Given the description of an element on the screen output the (x, y) to click on. 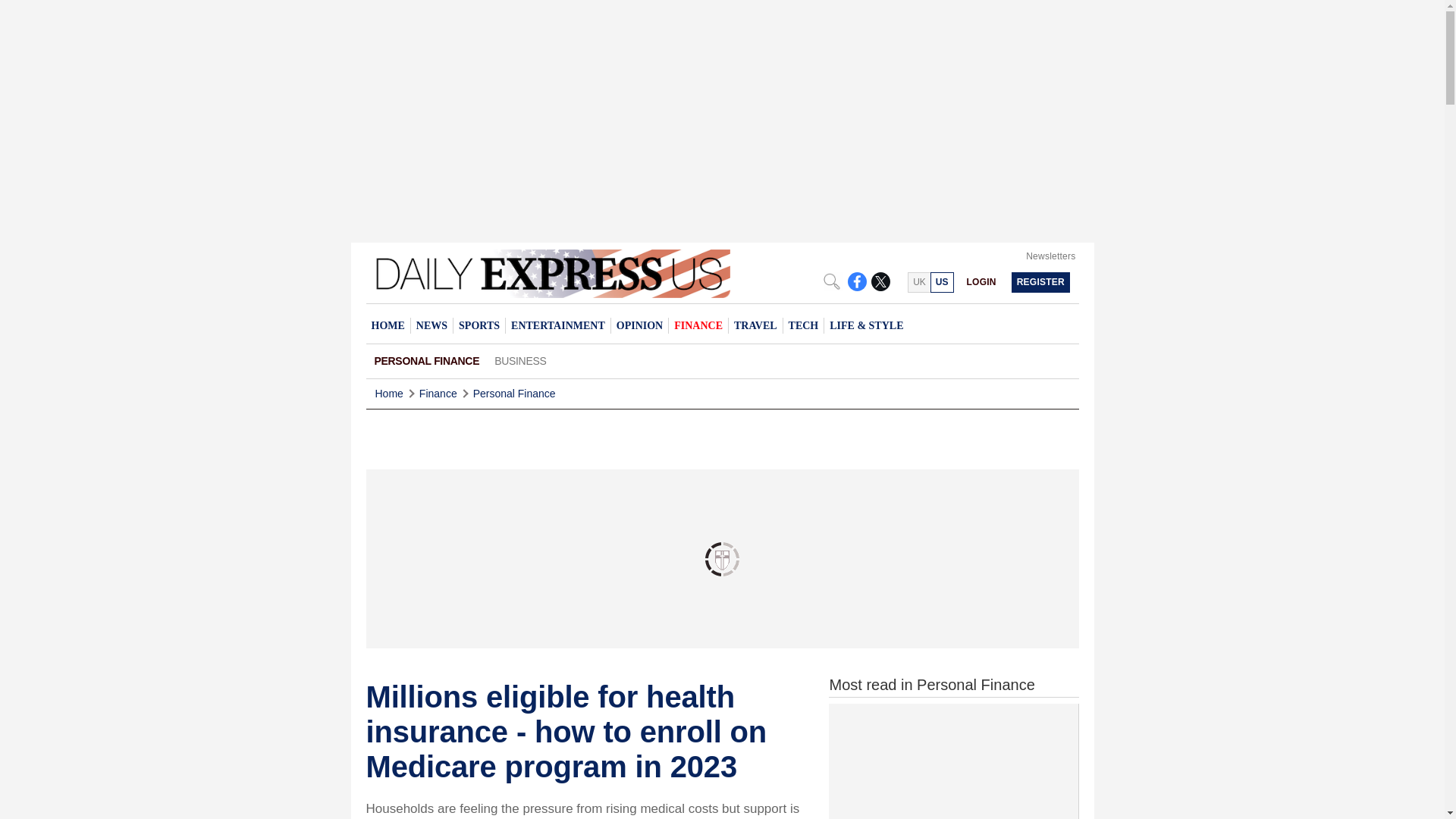
BUSINESS (519, 361)
TRAVEL (755, 325)
ENTERTAINMENT (557, 325)
Find us on Facebook (856, 281)
the-express.com (941, 281)
NEWS (431, 325)
Home (388, 393)
FINANCE (698, 325)
Follow us on Twitter (879, 281)
US (941, 281)
